Given the description of an element on the screen output the (x, y) to click on. 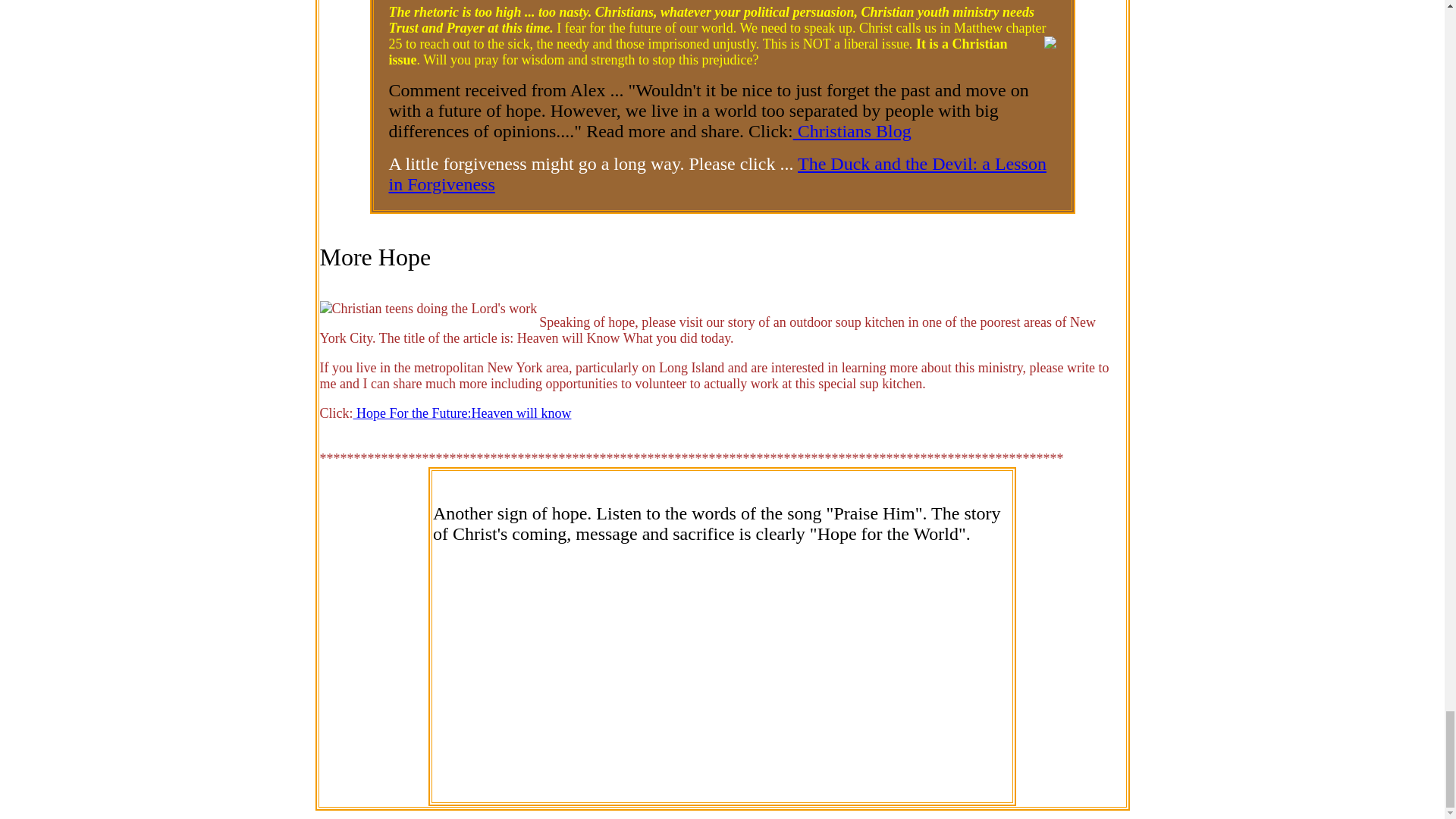
Christians Blog (852, 130)
Hope For the Future:Heaven will know (462, 412)
The Duck and the Devil: a Lesson in Forgiveness (716, 173)
